Given the description of an element on the screen output the (x, y) to click on. 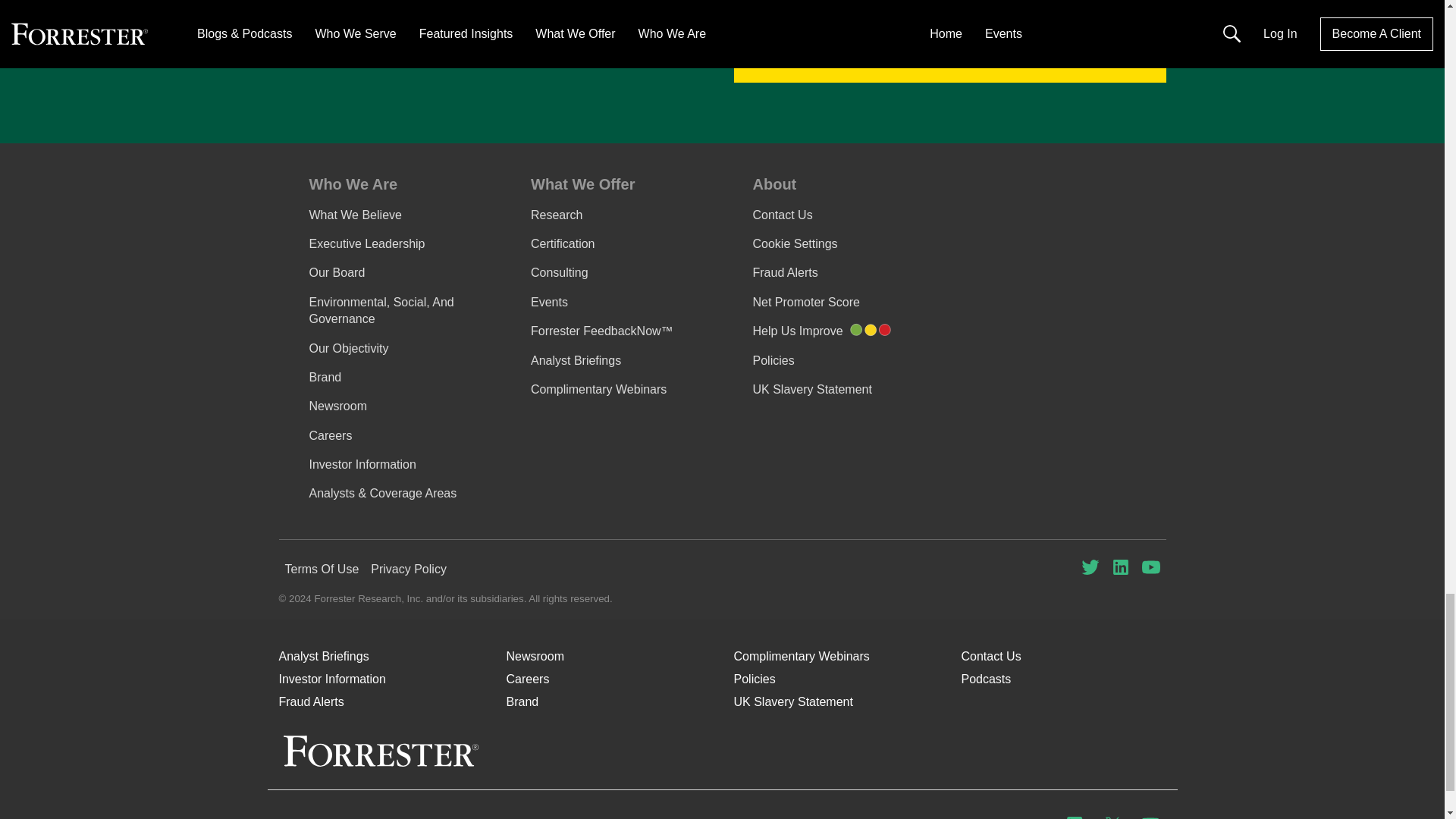
Subscribe Now (949, 59)
